Given the description of an element on the screen output the (x, y) to click on. 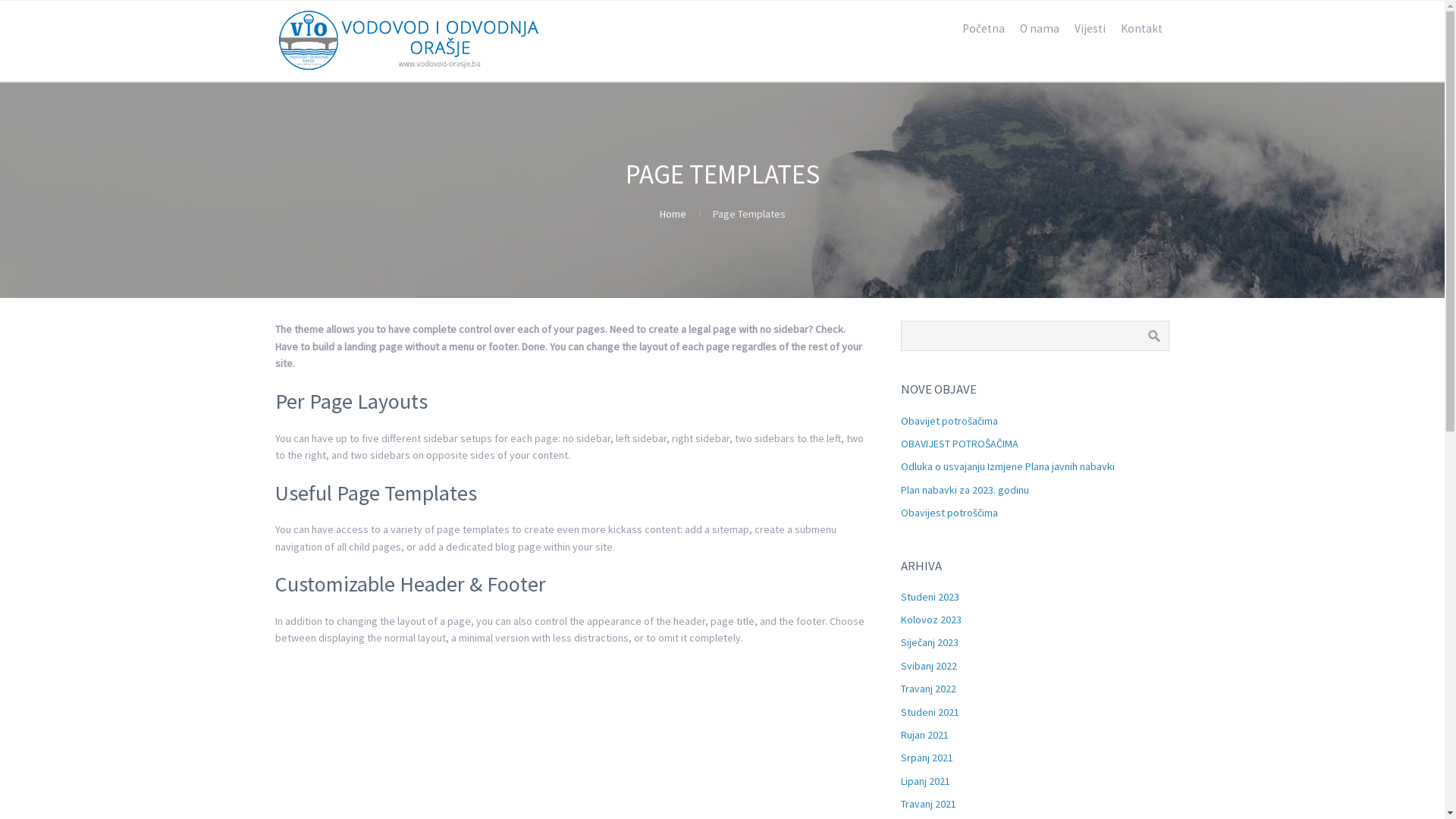
Rujan 2021 Element type: text (924, 734)
Plan nabavki za 2023. godinu Element type: text (964, 489)
Studeni 2021 Element type: text (929, 711)
Lipanj 2021 Element type: text (925, 780)
Travanj 2022 Element type: text (928, 688)
Svibanj 2022 Element type: text (928, 665)
O nama Element type: text (1038, 29)
Odluka o usvajanju Izmjene Plana javnih nabavki Element type: text (1007, 466)
Vijesti Element type: text (1089, 29)
Studeni 2023 Element type: text (929, 596)
Travanj 2021 Element type: text (928, 803)
Srpanj 2021 Element type: text (926, 757)
Kontakt Element type: text (1141, 29)
Kolovoz 2023 Element type: text (930, 619)
Home Element type: text (672, 213)
